Given the description of an element on the screen output the (x, y) to click on. 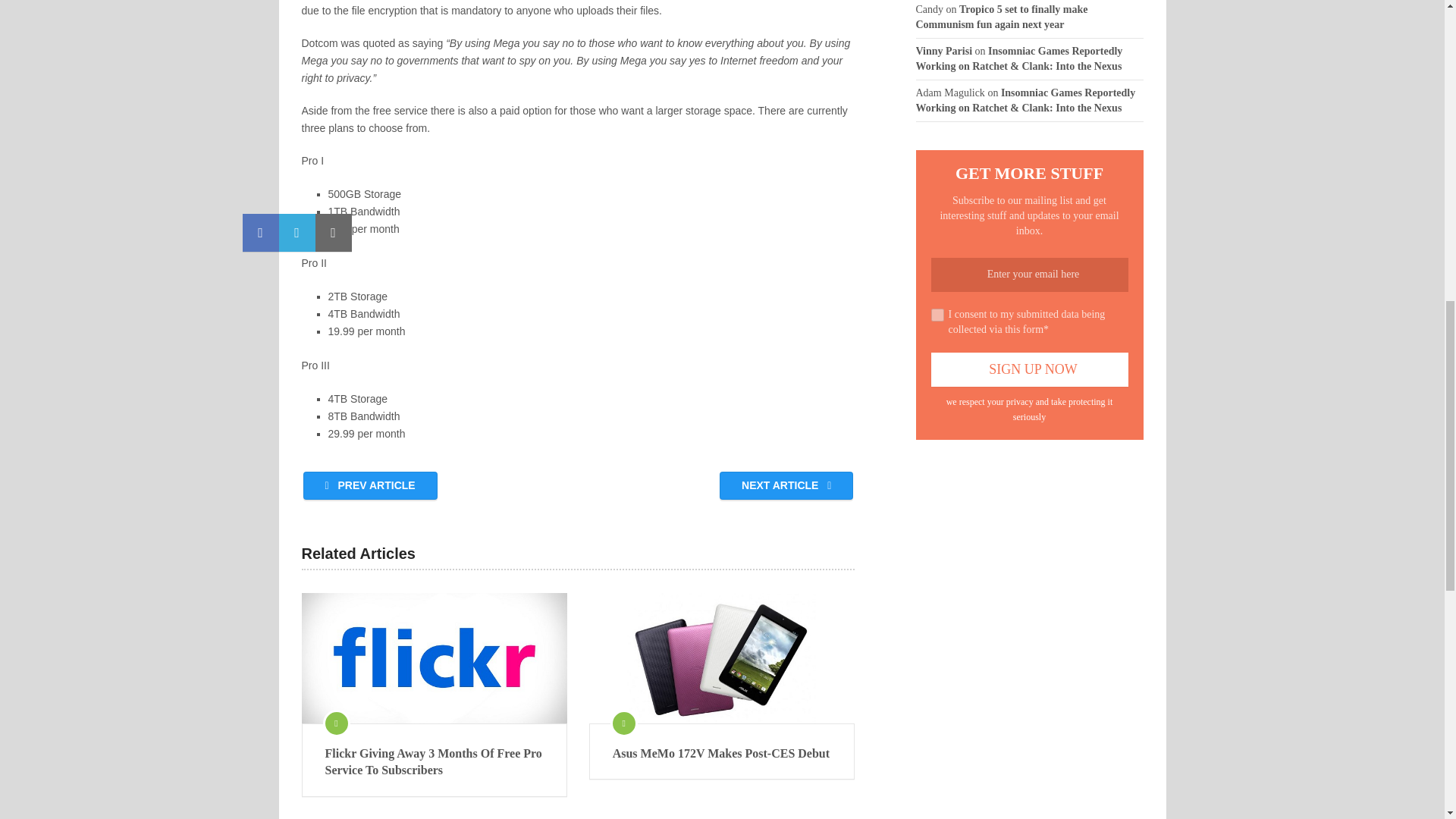
PREV ARTICLE (370, 485)
Asus MeMo 172V Makes Post-CES Debut (721, 657)
on (937, 314)
NEXT ARTICLE (786, 485)
Sign Up Now (1029, 368)
Asus MeMo 172V Makes Post-CES Debut (721, 753)
